Given the description of an element on the screen output the (x, y) to click on. 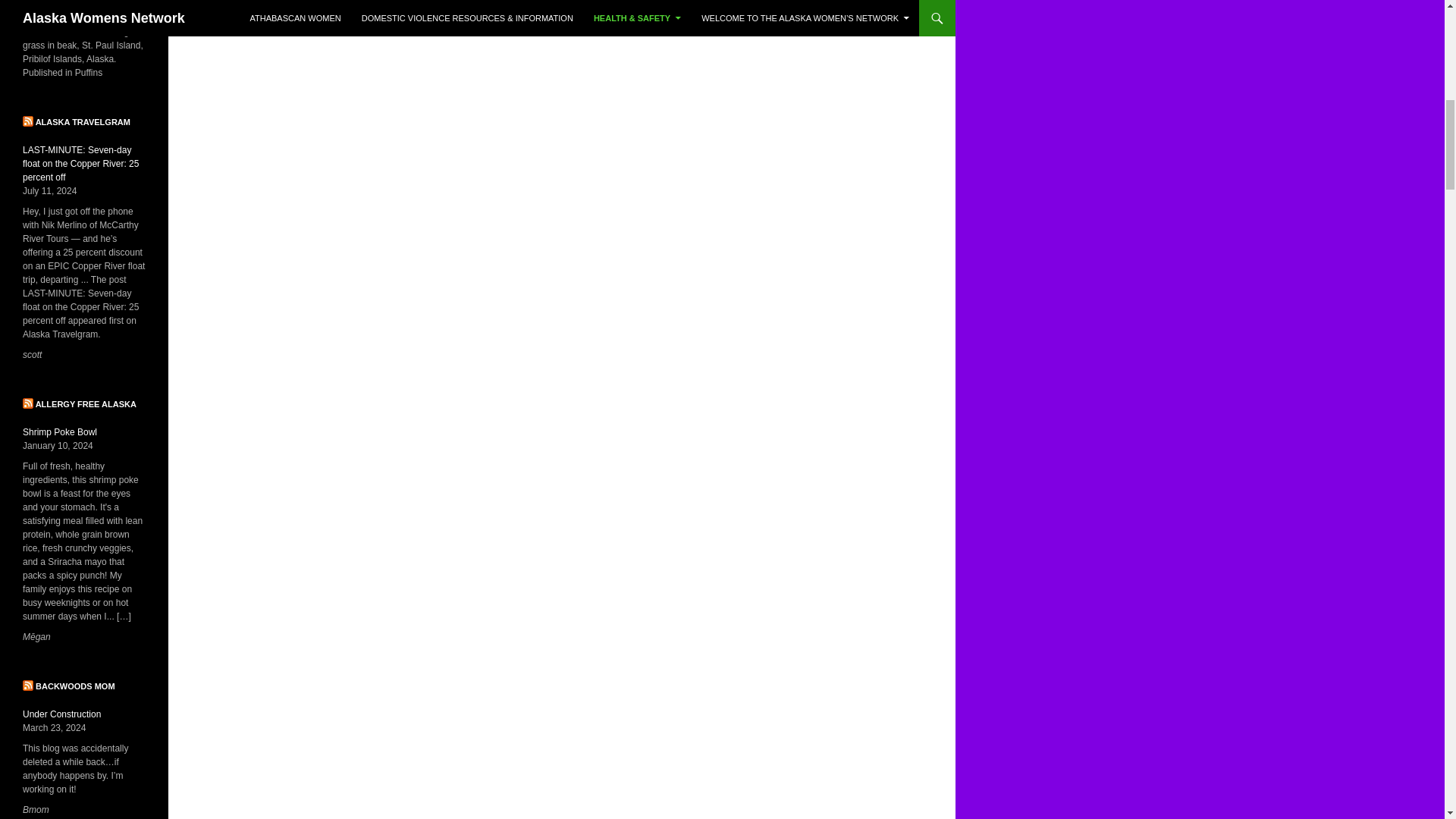
Under Construction (61, 714)
Shrimp Poke Bowl (60, 431)
Horned puffin, St. Paul Island (82, 1)
BACKWOODS MOM (74, 686)
ALLERGY FREE ALASKA (85, 403)
ALASKA TRAVELGRAM (82, 121)
